Given the description of an element on the screen output the (x, y) to click on. 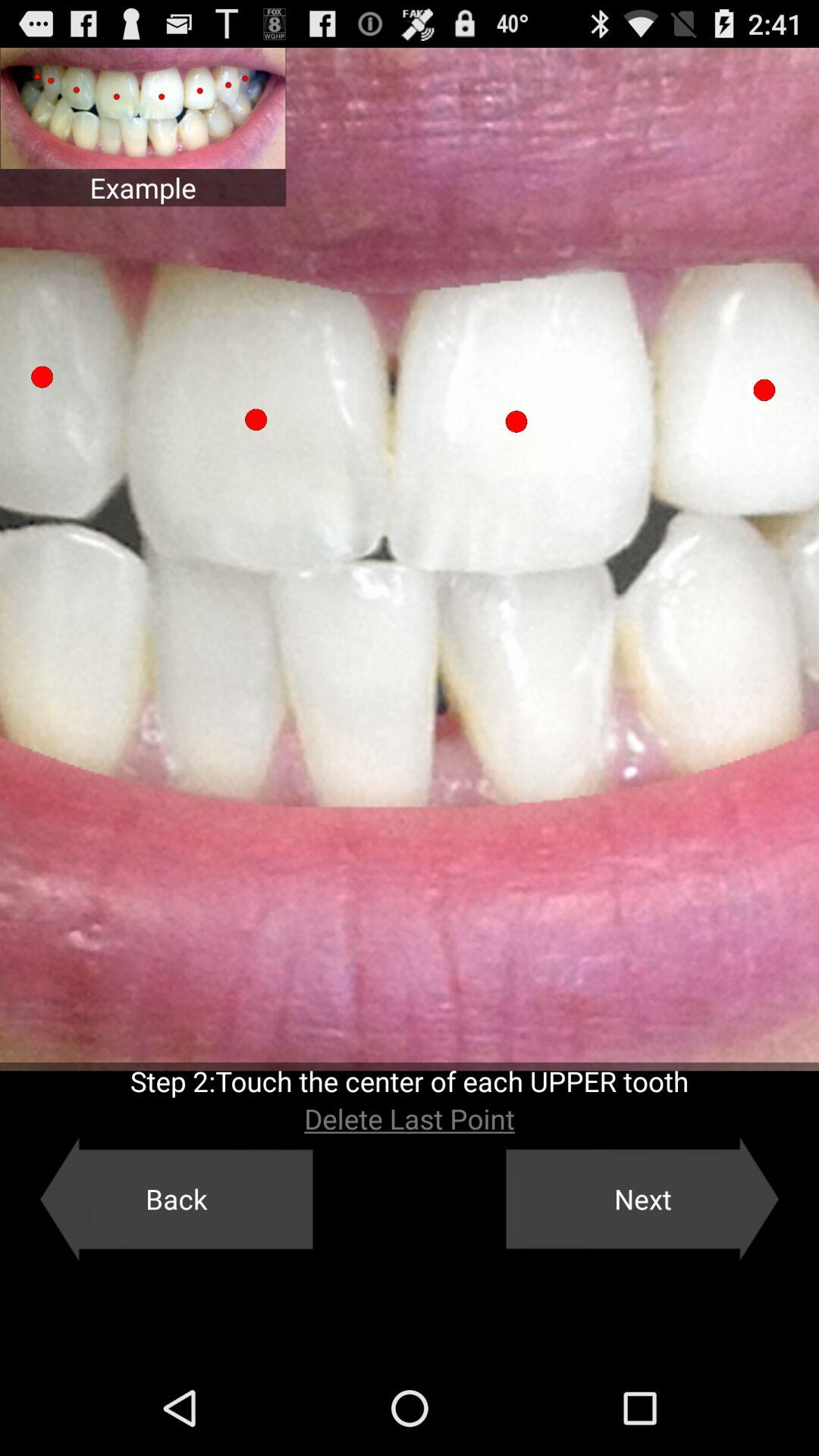
turn off the item next to the back (642, 1198)
